Given the description of an element on the screen output the (x, y) to click on. 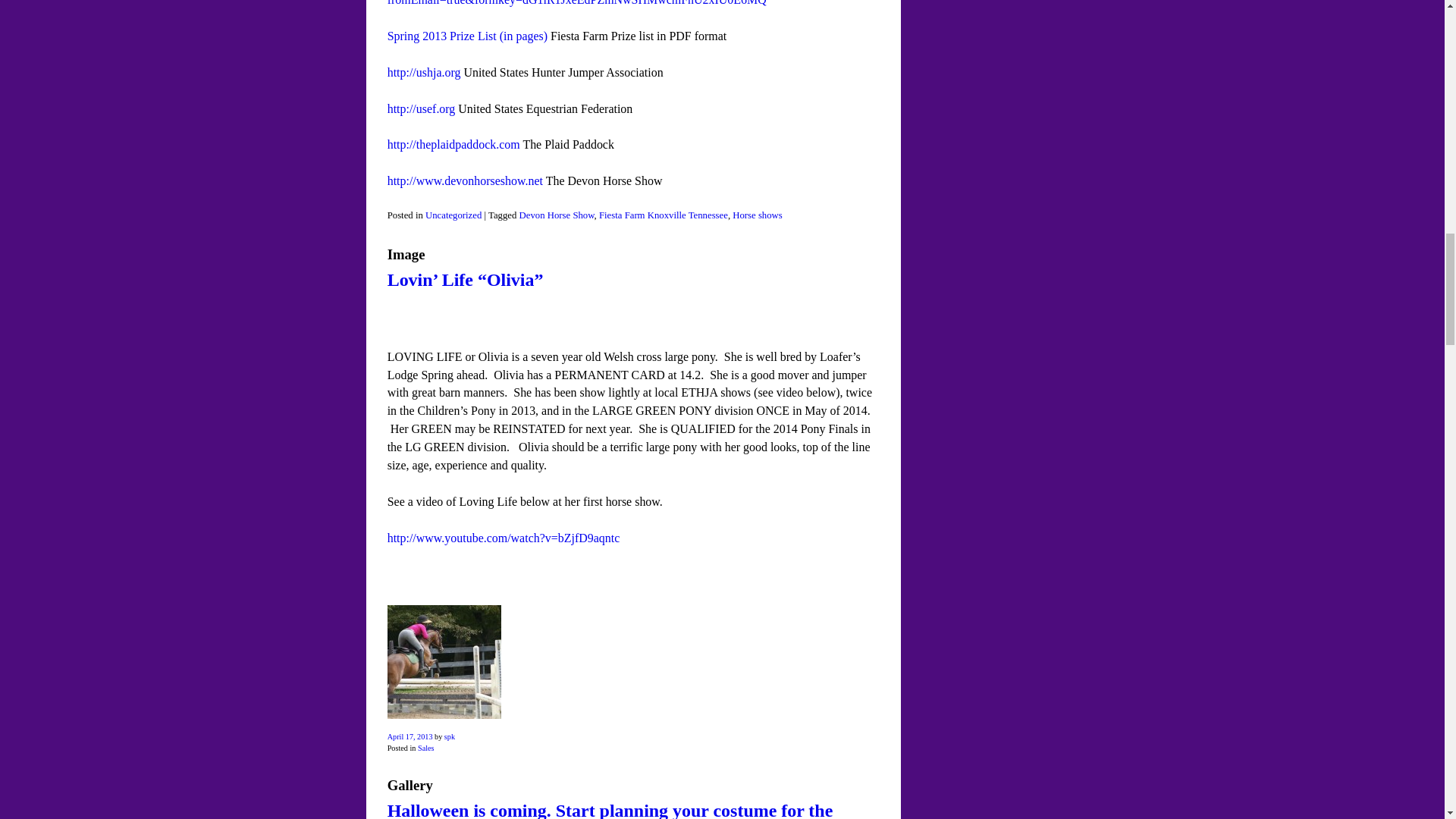
Ponies for sale (503, 537)
On-line Entry Blank for Fiesta Farm Spring Horse Show (577, 2)
The Devon Horse Show (465, 180)
View all posts by spk (449, 736)
The Plaid Paddock (453, 144)
